Given the description of an element on the screen output the (x, y) to click on. 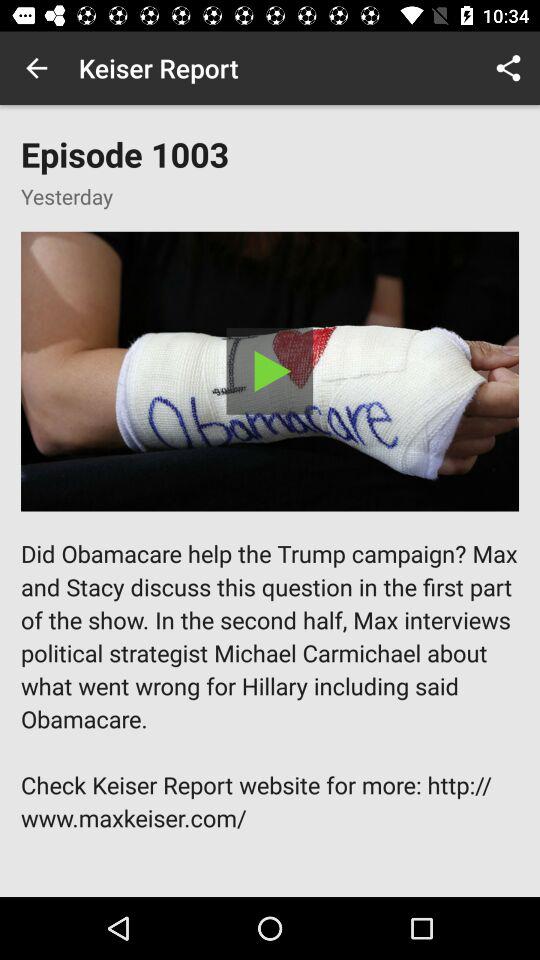
press item at the top right corner (508, 67)
